Given the description of an element on the screen output the (x, y) to click on. 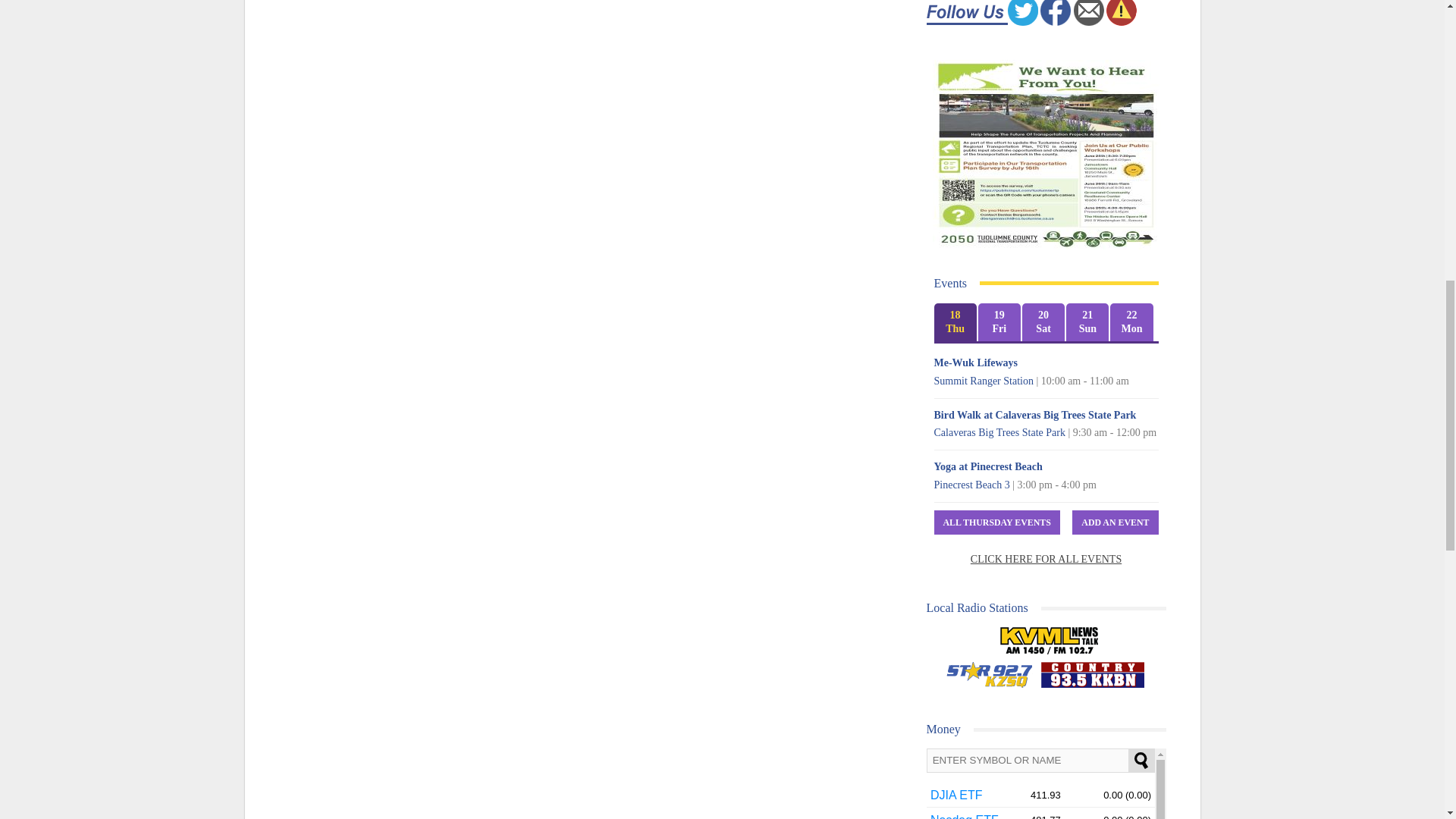
All Thursday Events (996, 522)
Add An Event (1114, 522)
Tuolumne County Transit (1046, 154)
